Given the description of an element on the screen output the (x, y) to click on. 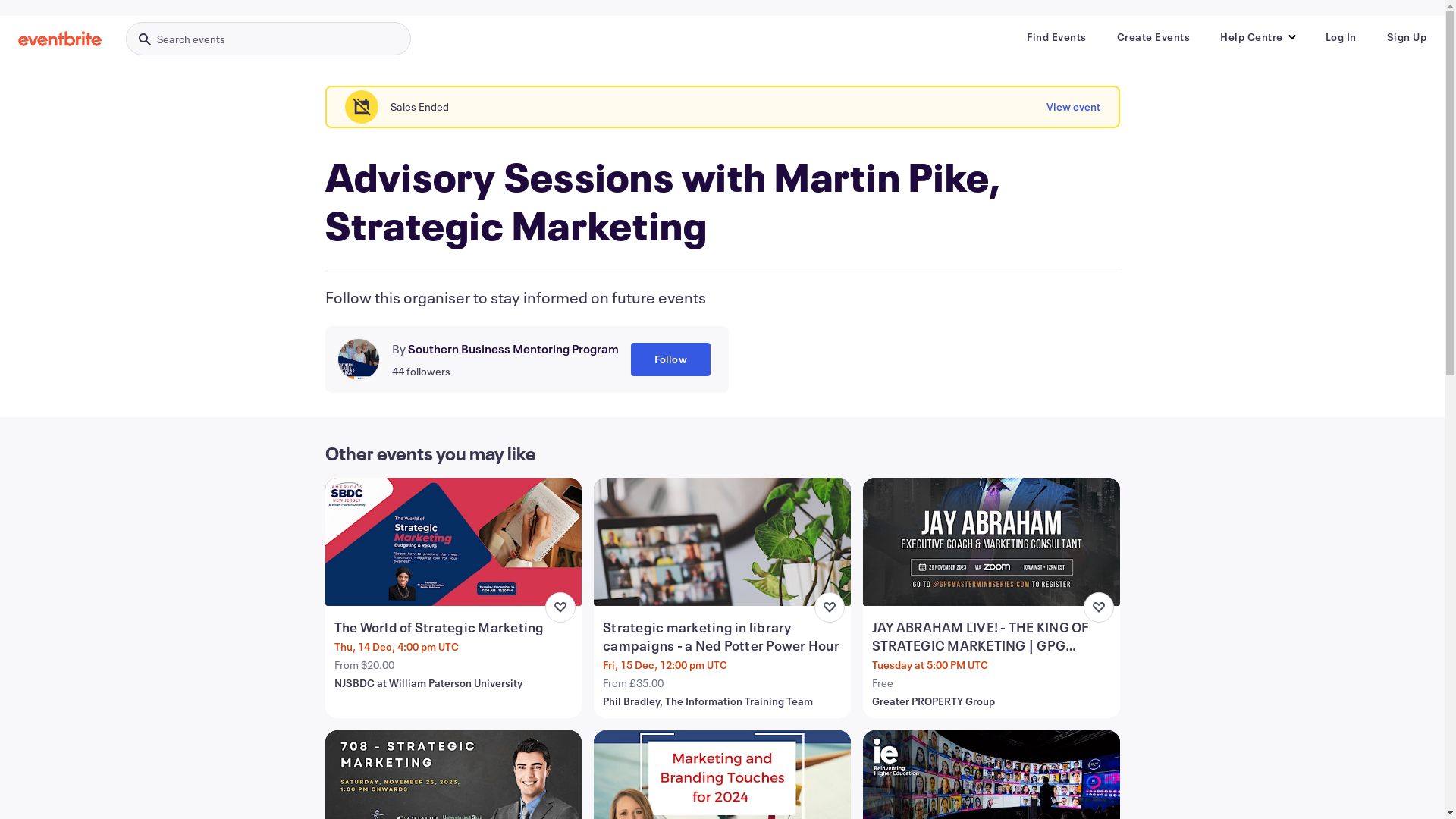
Sign Up Element type: text (1406, 36)
The World of Strategic Marketing Element type: text (454, 627)
Log In Element type: text (1340, 36)
Search events Element type: text (268, 38)
Create Events Element type: text (1152, 36)
View event Element type: text (1073, 106)
Eventbrite Element type: hover (59, 38)
Follow Element type: text (670, 359)
Find Events Element type: text (1056, 36)
